Given the description of an element on the screen output the (x, y) to click on. 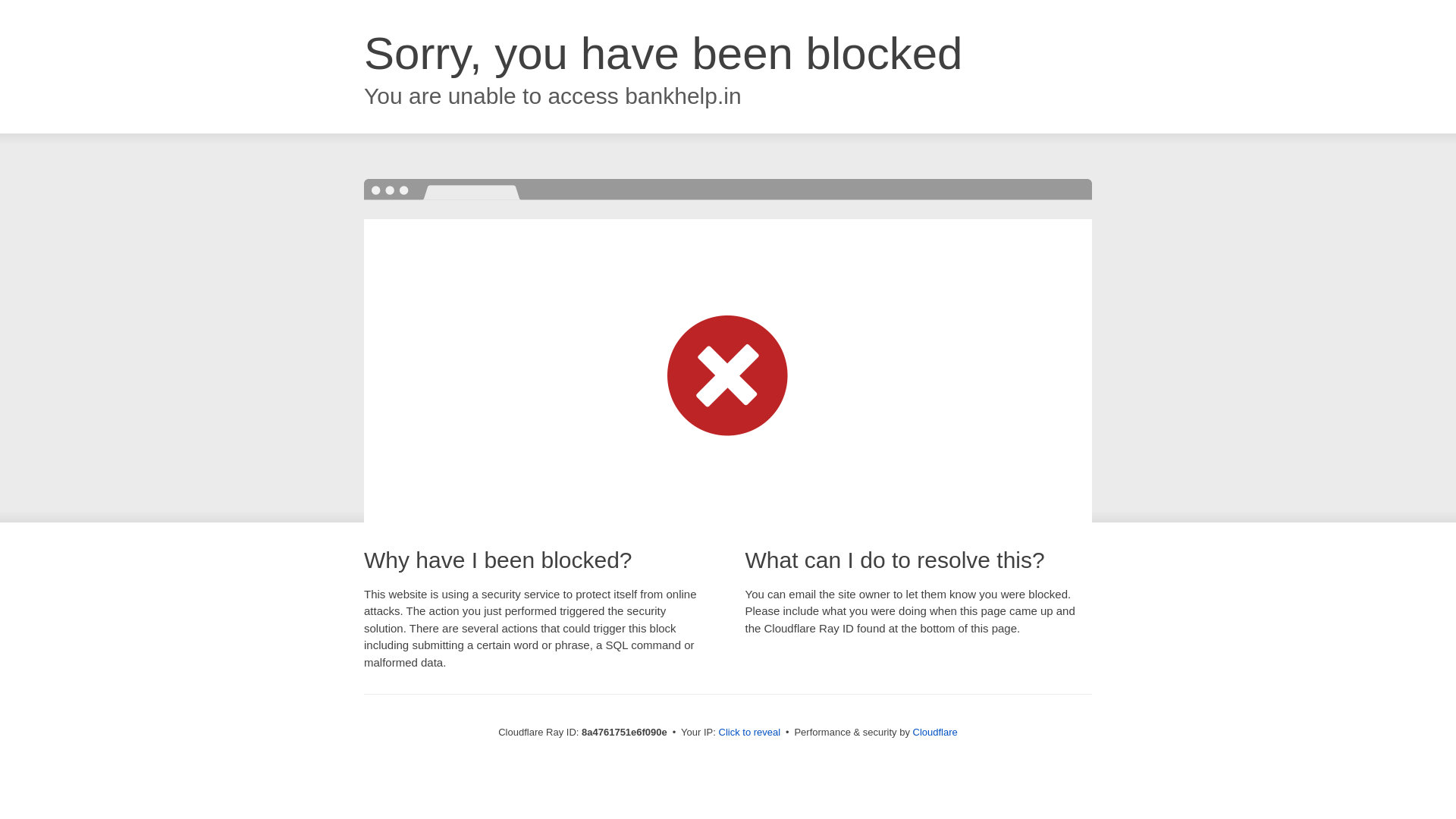
Click to reveal (749, 732)
Cloudflare (935, 731)
